Given the description of an element on the screen output the (x, y) to click on. 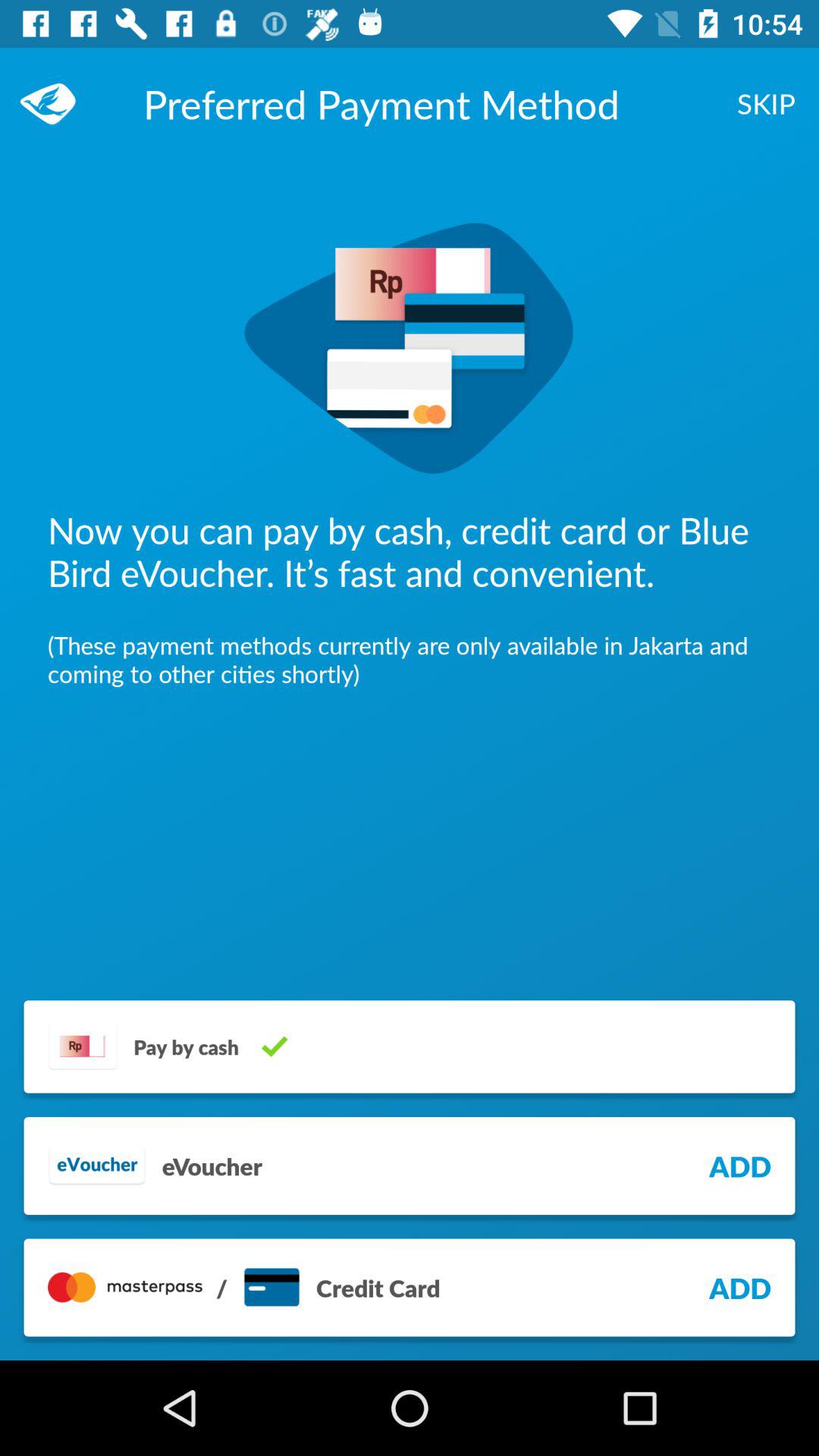
choose the item next to preferred payment method (55, 103)
